Given the description of an element on the screen output the (x, y) to click on. 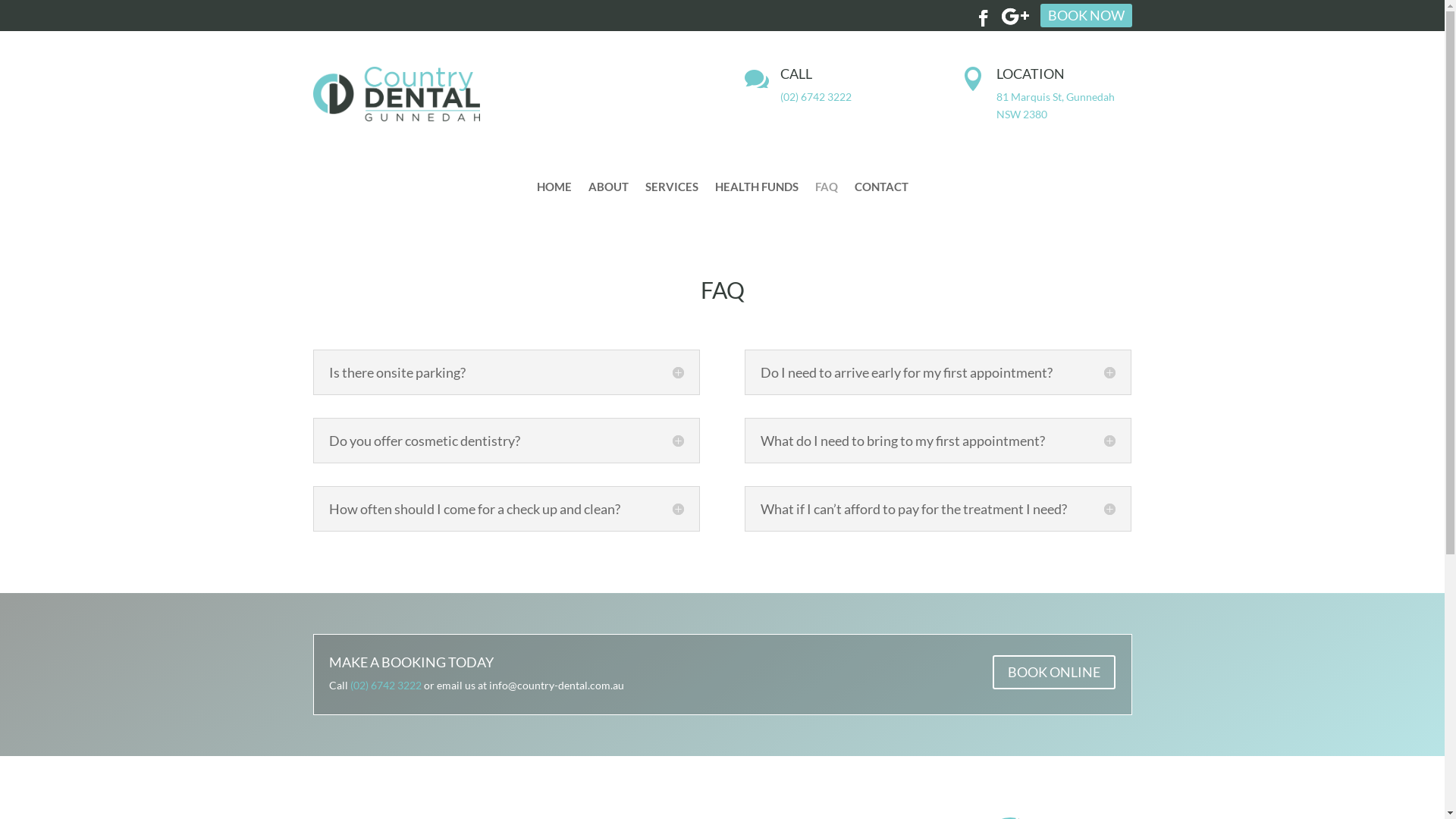
HEALTH FUNDS Element type: text (755, 175)
(02) 6742 3222 Element type: text (815, 96)
CONTACT Element type: text (880, 175)
BOOK NOW Element type: text (1086, 15)
SERVICES Element type: text (670, 175)
(02) 6742 3222 Element type: text (385, 684)
Follow on Google+ Element type: hover (1024, 14)
ABOUT Element type: text (608, 175)
Follow on Facebook Element type: hover (990, 13)
LOCATION Element type: text (1030, 73)
CALL Element type: text (796, 73)
HOME Element type: text (553, 175)
FAQ Element type: text (825, 175)
Country Dental Gunnedah Logo Element type: hover (395, 93)
81 Marquis St, Gunnedah NSW 2380 Element type: text (1055, 105)
BOOK ONLINE Element type: text (1053, 672)
